Given the description of an element on the screen output the (x, y) to click on. 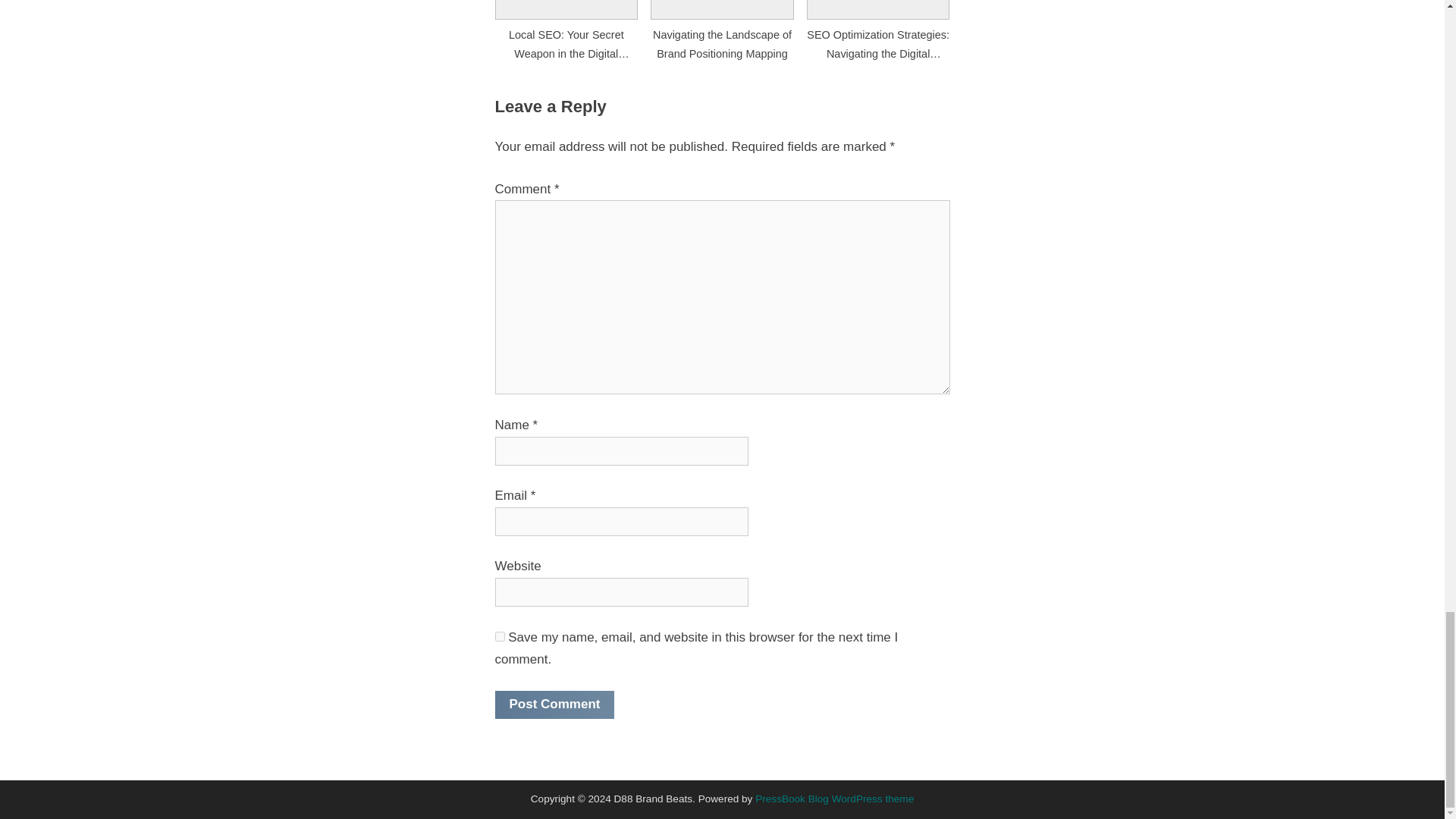
PressBook Blog WordPress theme (834, 798)
Local SEO: Your Secret Weapon in the Digital Neighborhood (566, 28)
yes (499, 636)
Post Comment (554, 705)
Post Comment (554, 705)
Navigating the Landscape of Brand Positioning Mapping (721, 28)
